Given the description of an element on the screen output the (x, y) to click on. 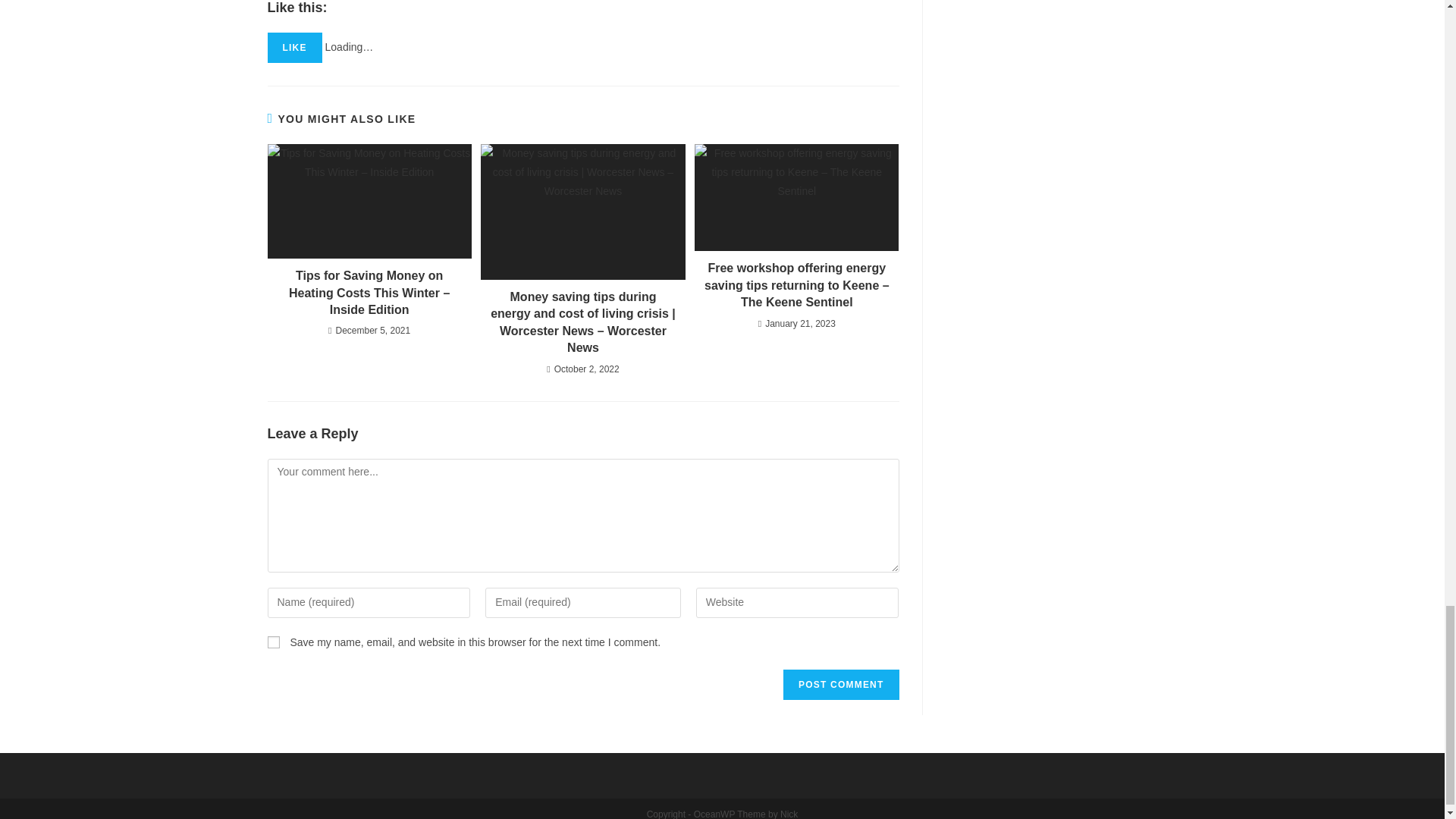
yes (272, 642)
Post Comment (840, 684)
Post Comment (840, 684)
